Given the description of an element on the screen output the (x, y) to click on. 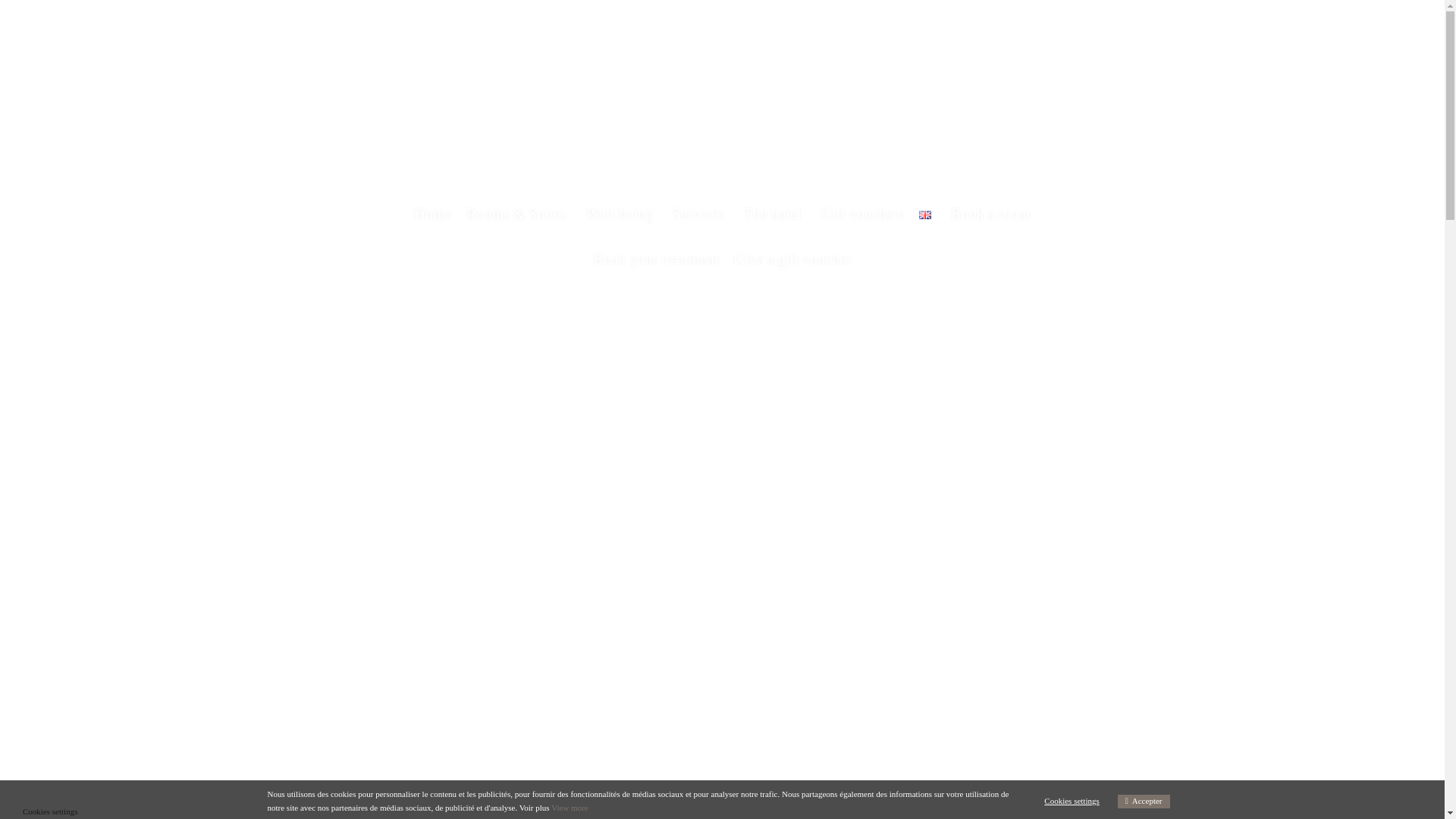
Services (700, 213)
Well-being (620, 213)
The hotel (774, 213)
Home (432, 213)
